Given the description of an element on the screen output the (x, y) to click on. 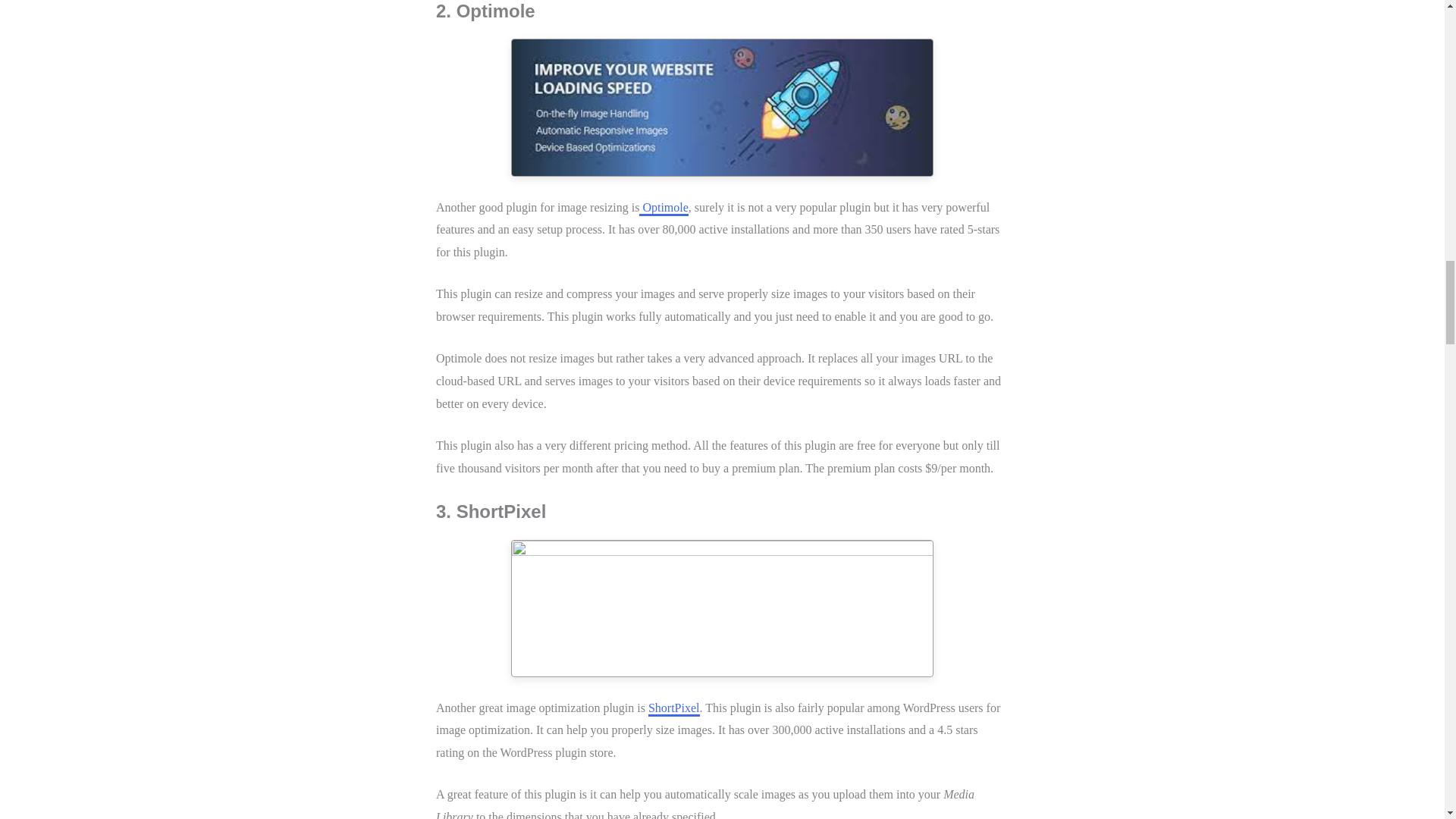
Optimole (663, 208)
